Given the description of an element on the screen output the (x, y) to click on. 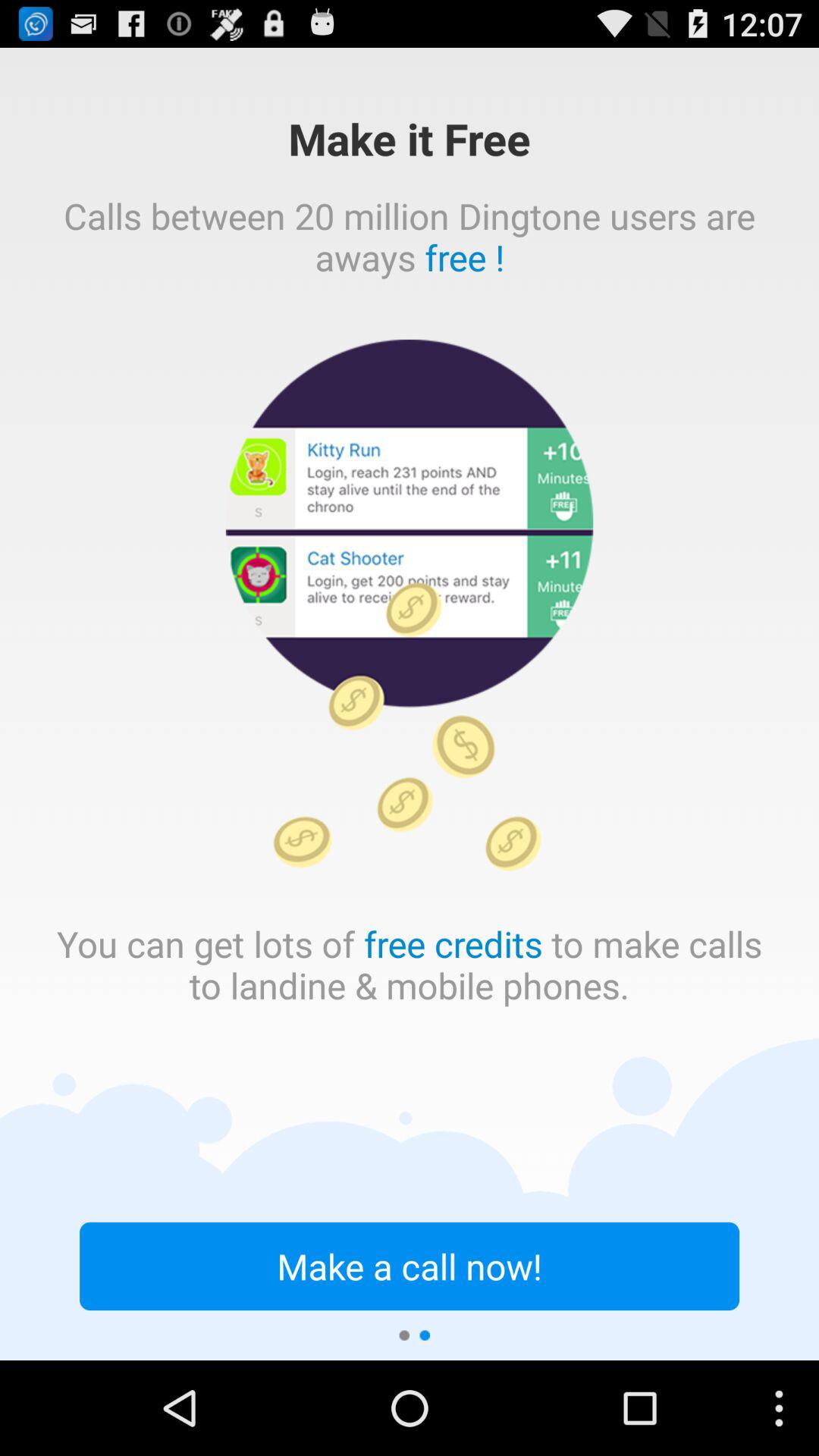
turn on the make a call item (409, 1266)
